Given the description of an element on the screen output the (x, y) to click on. 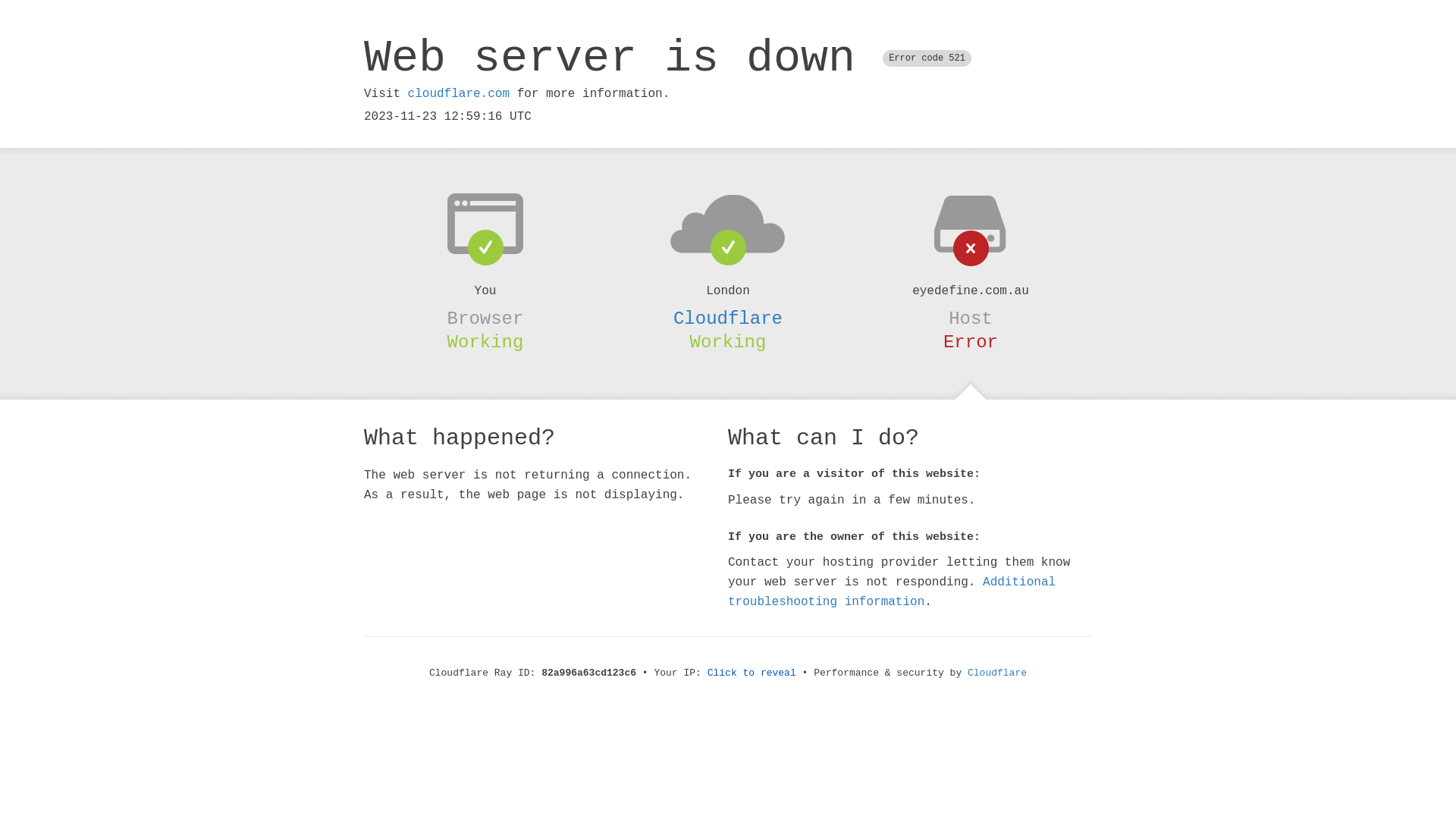
Cloudflare Element type: text (996, 672)
Additional troubleshooting information Element type: text (891, 591)
Cloudflare Element type: text (727, 318)
Click to reveal Element type: text (751, 672)
cloudflare.com Element type: text (458, 93)
